Given the description of an element on the screen output the (x, y) to click on. 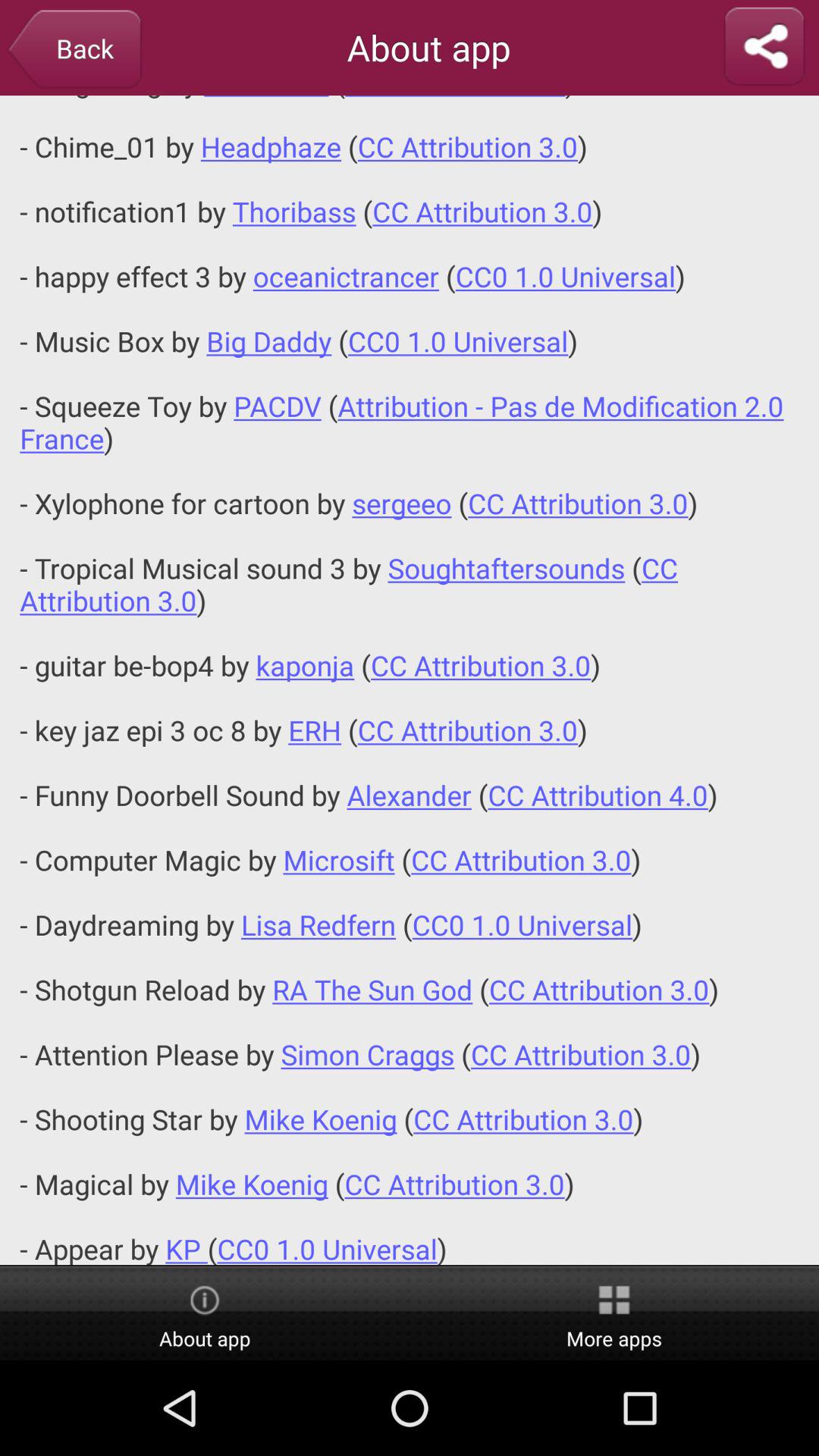
open icon at the center (409, 679)
